Given the description of an element on the screen output the (x, y) to click on. 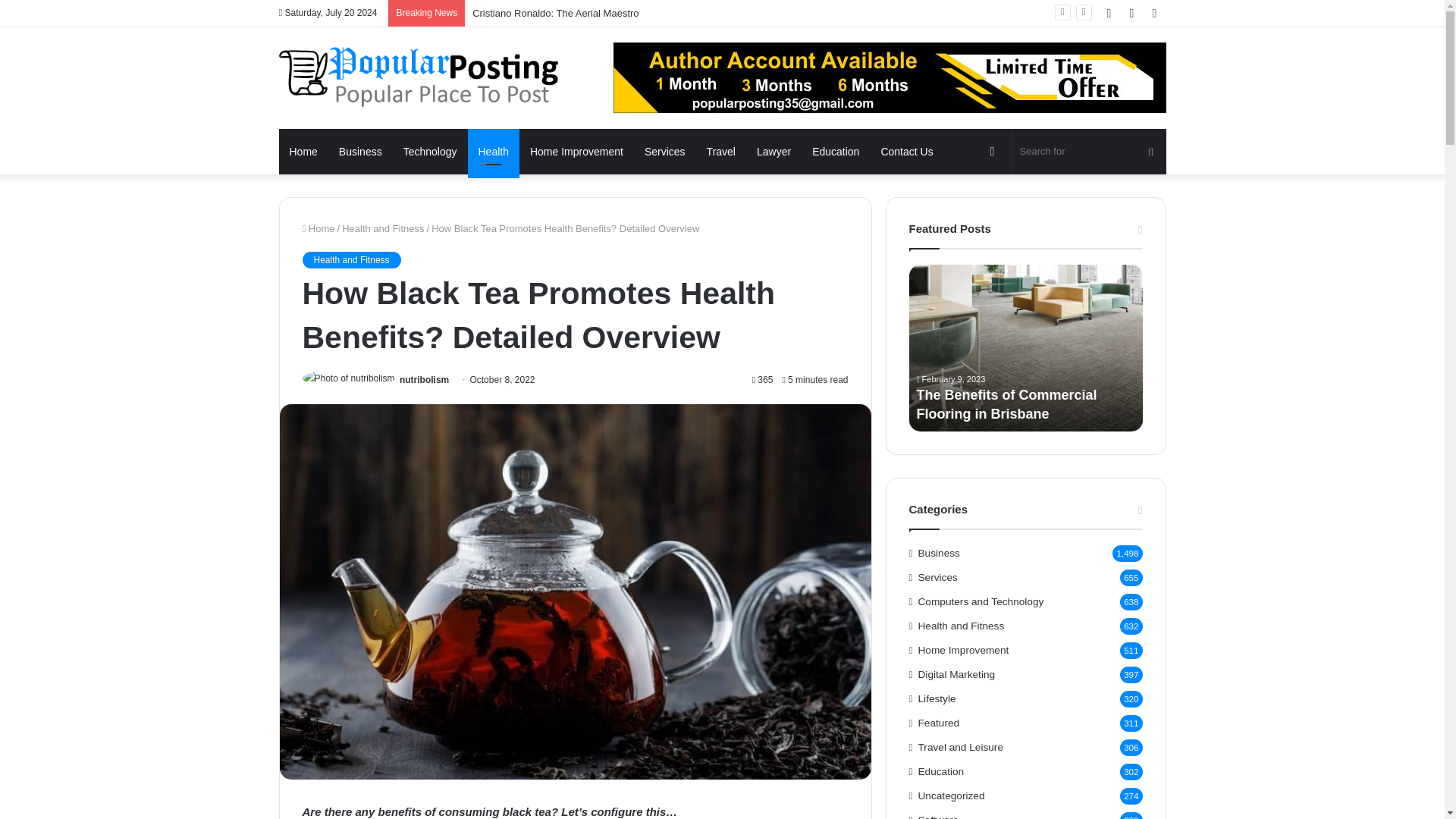
Home (317, 228)
Health (492, 151)
Travel (720, 151)
Contact Us (906, 151)
nutribolism (423, 379)
Services (664, 151)
Home (304, 151)
Popular Posting - Latest News - Services (419, 75)
Lawyer (773, 151)
Business (361, 151)
nutribolism (423, 379)
Cristiano Ronaldo: The Aerial Maestro (555, 12)
Health and Fitness (382, 228)
Health and Fitness (350, 259)
Education (835, 151)
